Given the description of an element on the screen output the (x, y) to click on. 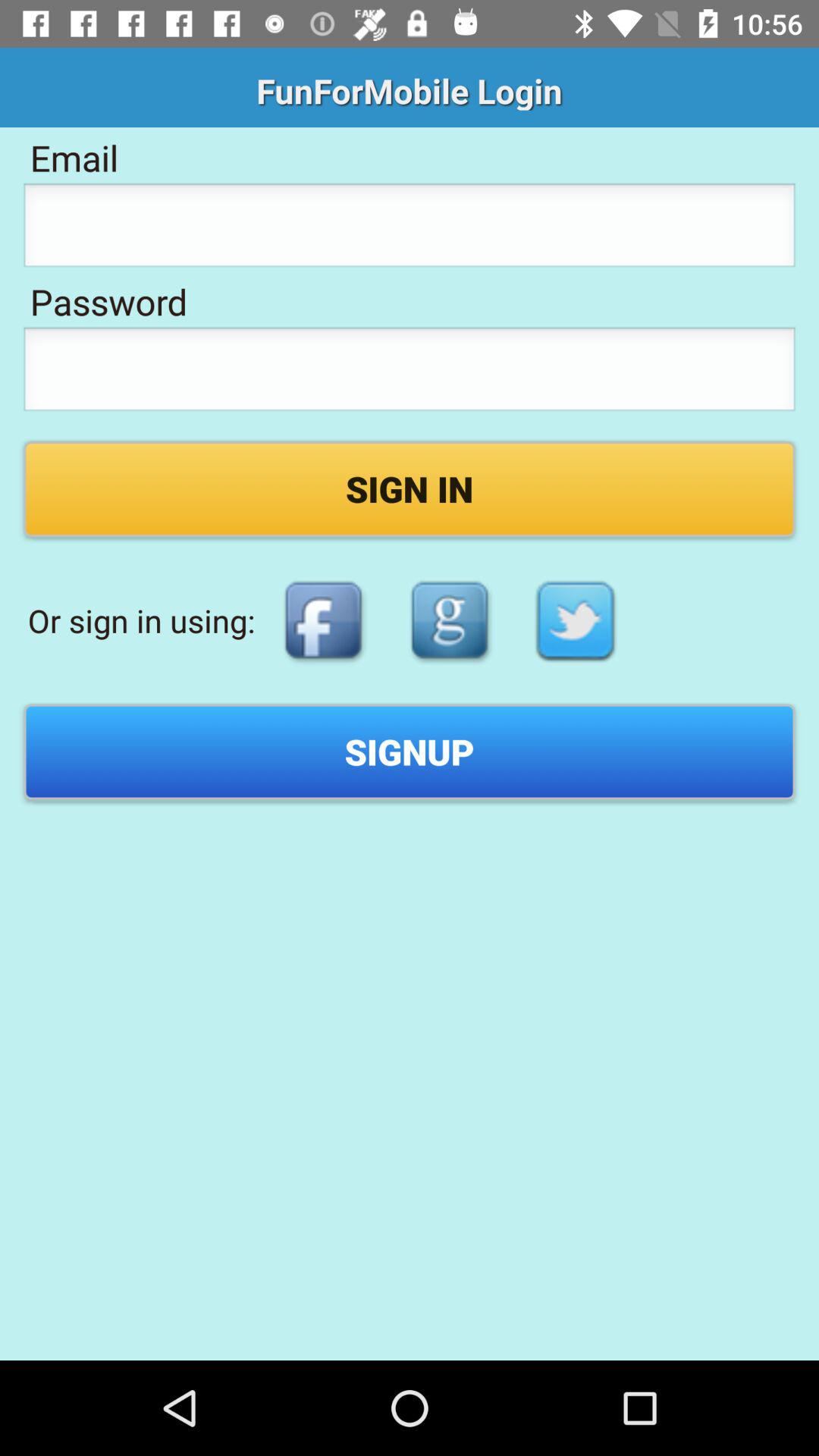
open the button above the signup (323, 620)
